Given the description of an element on the screen output the (x, y) to click on. 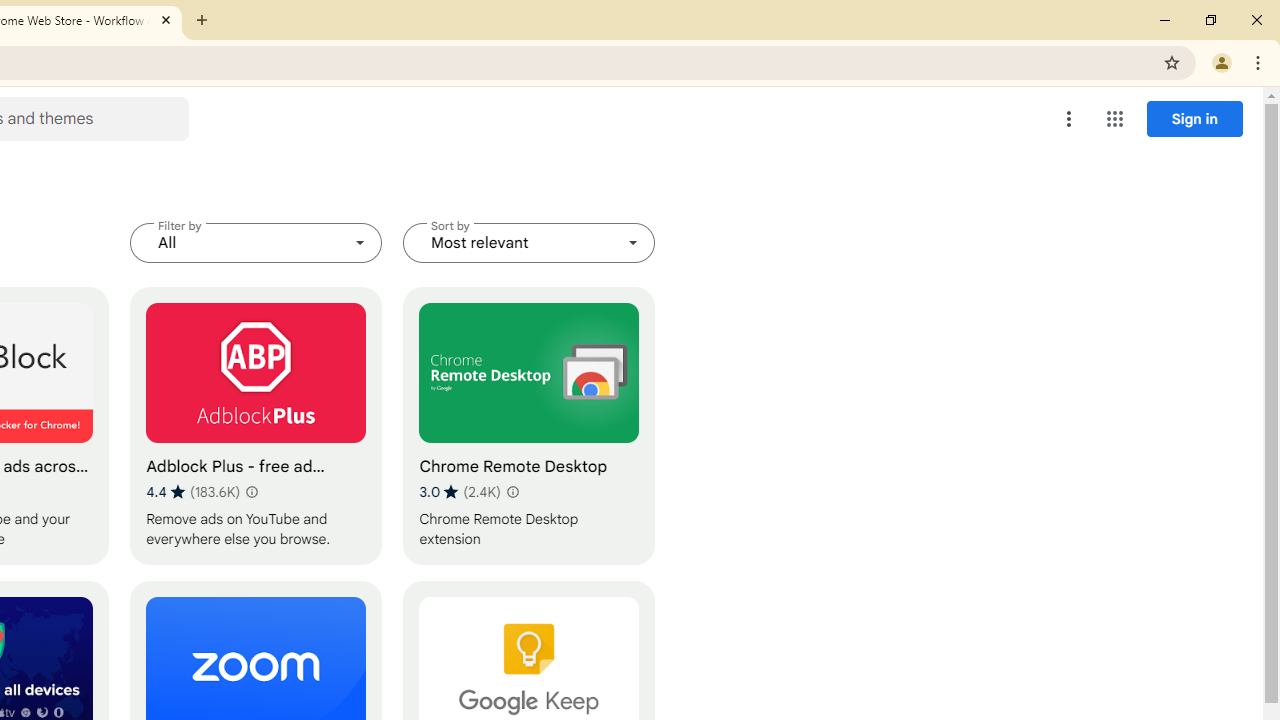
Sort by Most relevant (529, 242)
Average rating 3.0 out of 5 stars. 2.4K ratings. (459, 491)
